Given the description of an element on the screen output the (x, y) to click on. 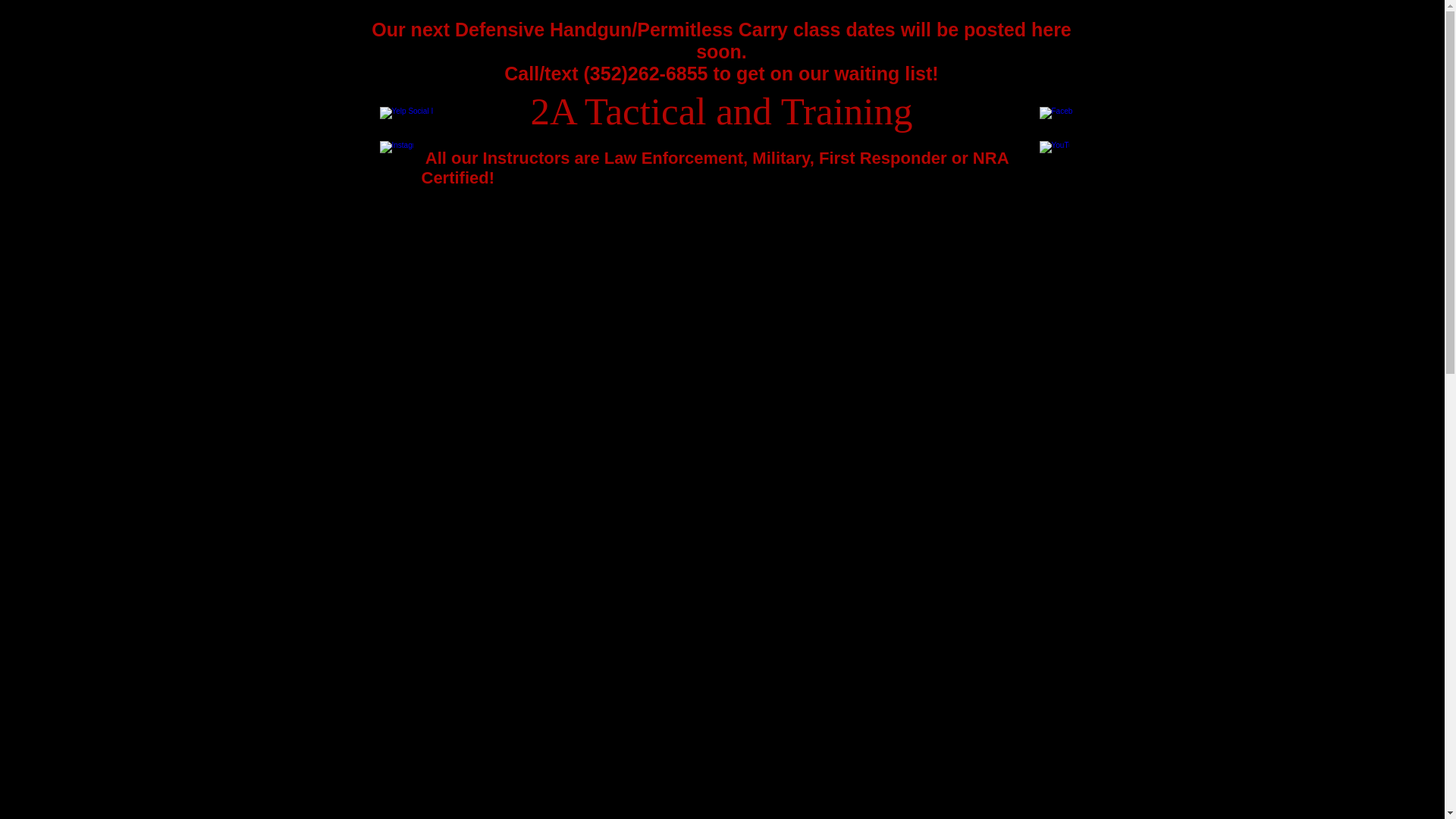
Facebook Like Element type: hover (1051, 92)
